Given the description of an element on the screen output the (x, y) to click on. 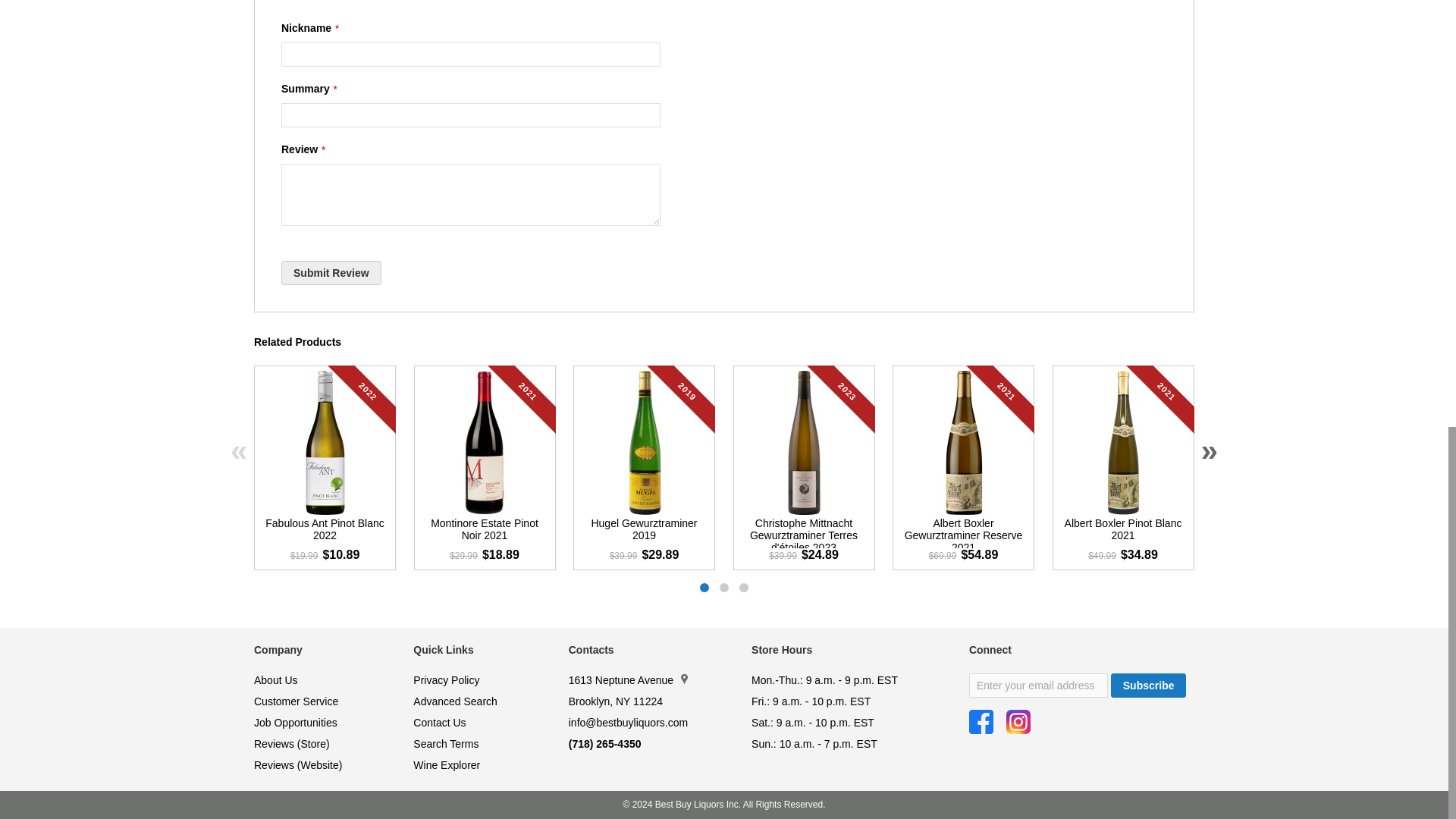
Hugel Gewurztraminer 2019 (643, 531)
Montinore Estate Pinot Noir 2021 (484, 531)
Fabulous Ant Pinot Blanc 2022 (324, 531)
